Given the description of an element on the screen output the (x, y) to click on. 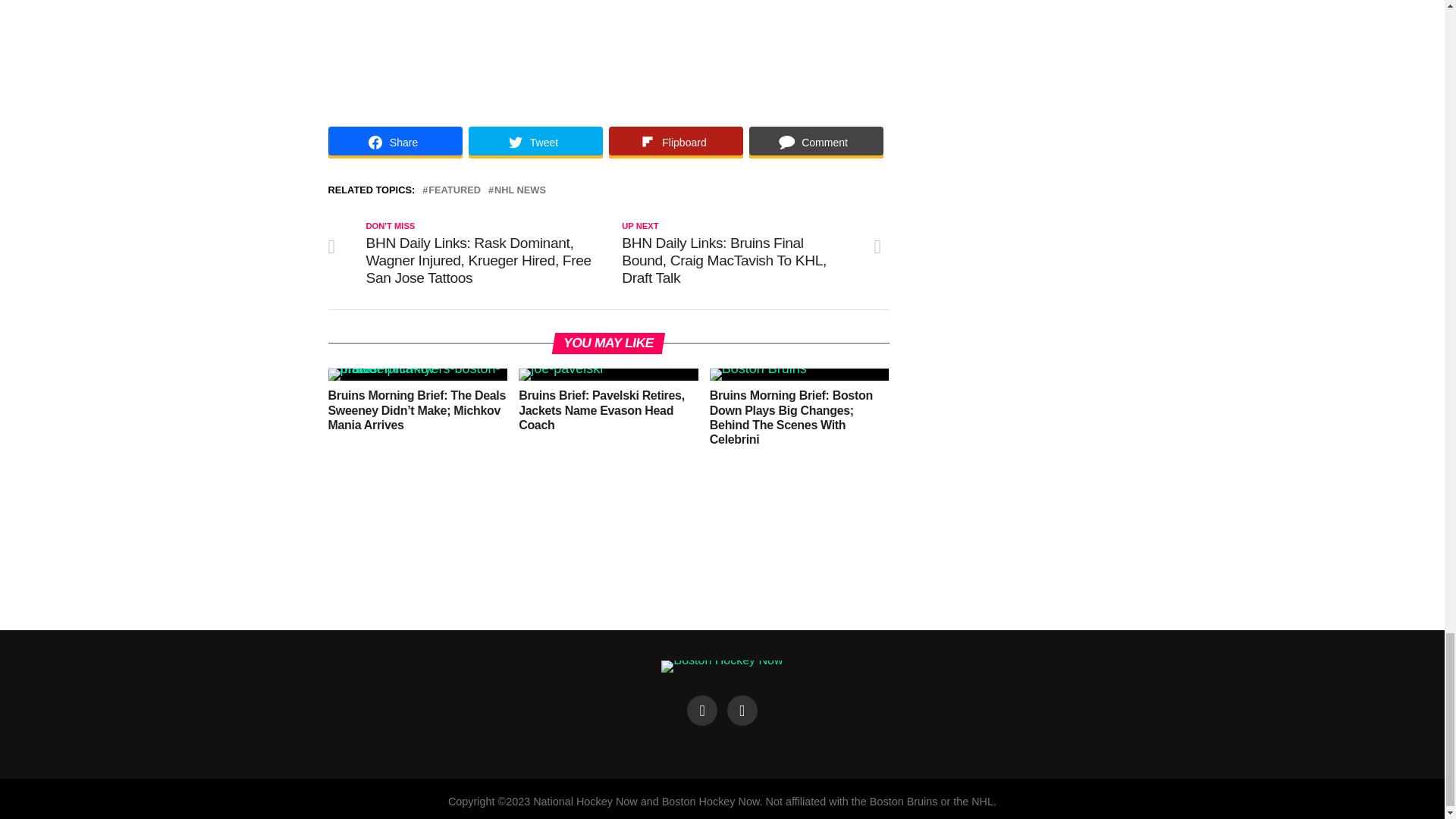
Share on Comment (816, 142)
Share on Share (394, 142)
Share on Tweet (535, 142)
Share on Flipboard (675, 142)
